Given the description of an element on the screen output the (x, y) to click on. 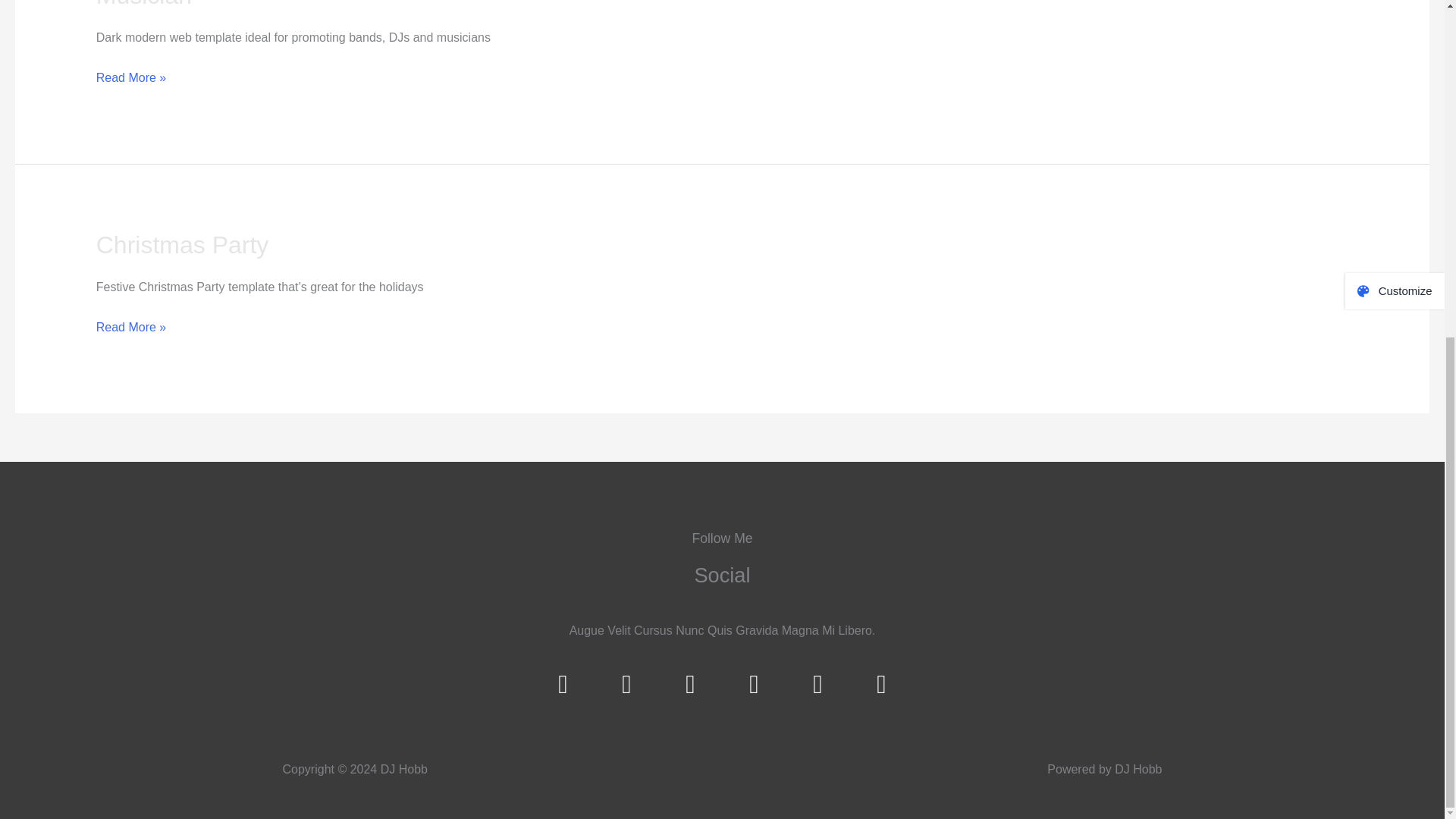
Musician (144, 4)
Soundcloud (818, 684)
Instagram (690, 684)
Facebook-f (563, 684)
Apple (754, 684)
Youtube (882, 684)
Christmas Party (182, 244)
Twitter (627, 684)
